Given the description of an element on the screen output the (x, y) to click on. 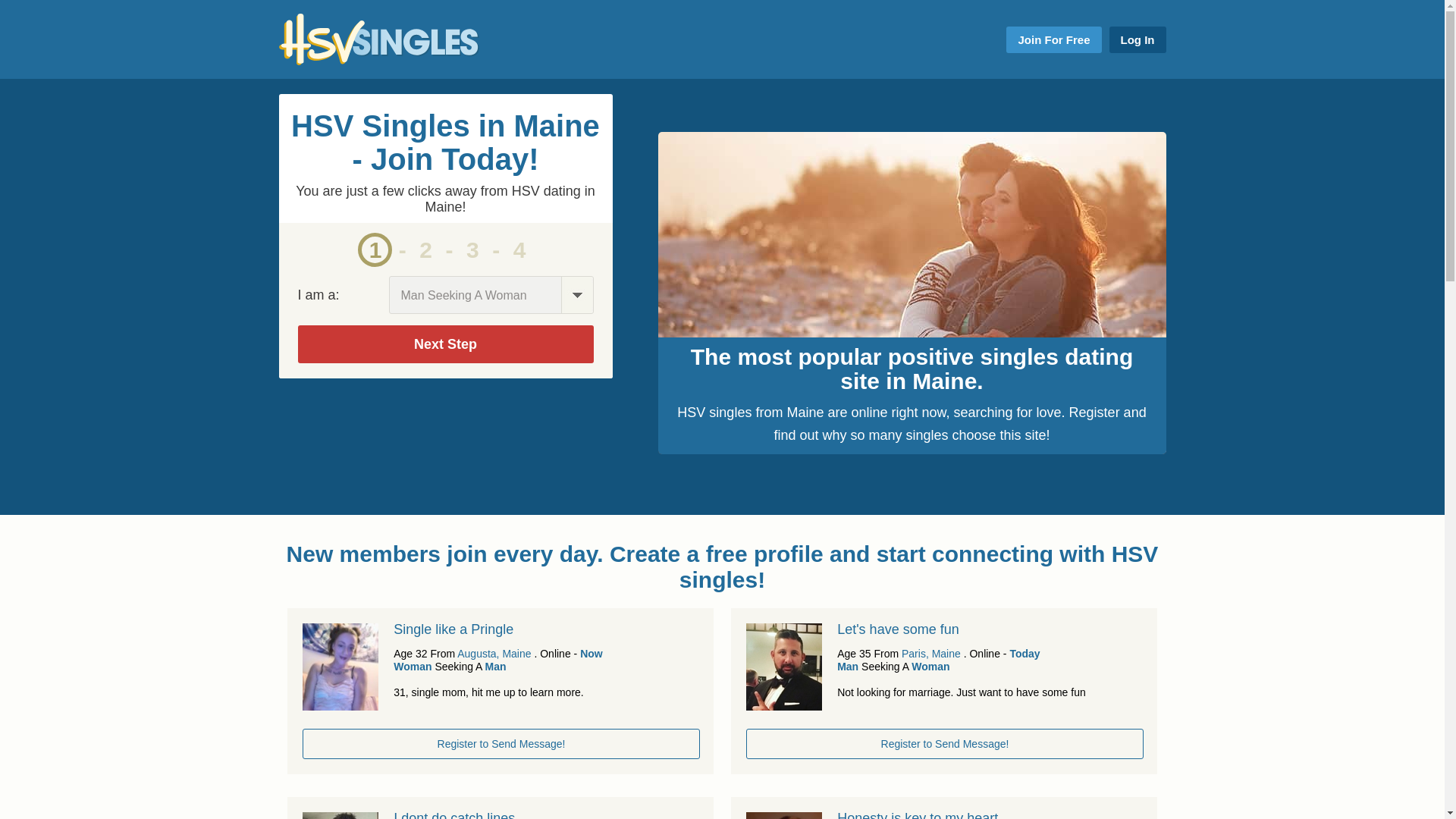
Join For Free (1053, 39)
Register to Send Message! (943, 743)
Augusta, Maine (494, 653)
Paris, Maine (930, 653)
Log In (1137, 39)
Next Step (444, 344)
Register to Send Message! (501, 743)
